Given the description of an element on the screen output the (x, y) to click on. 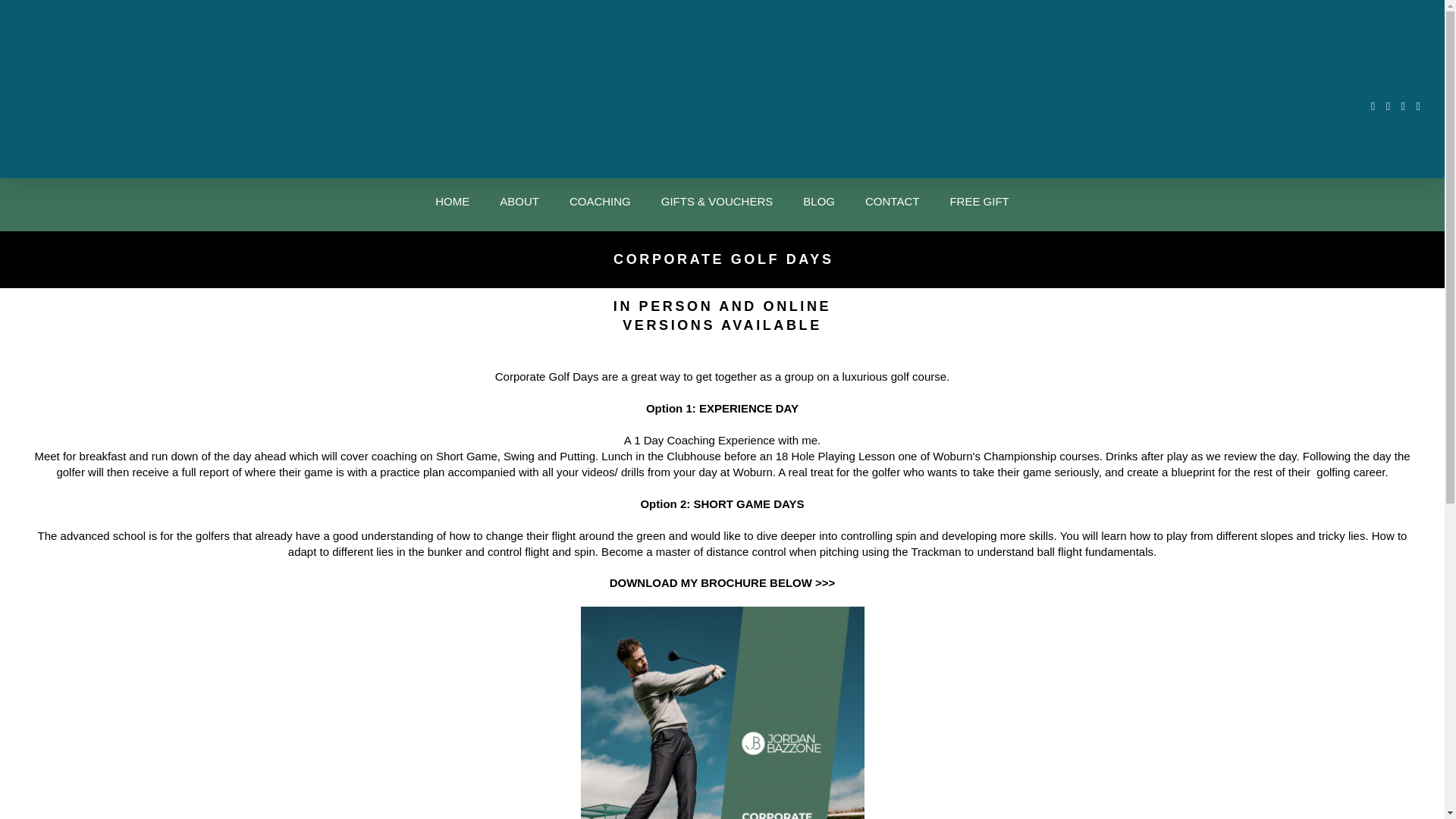
FREE GIFT (978, 204)
ABOUT (519, 204)
BLOG (818, 204)
CONTACT (892, 204)
HOME (452, 204)
COACHING (600, 204)
